Given the description of an element on the screen output the (x, y) to click on. 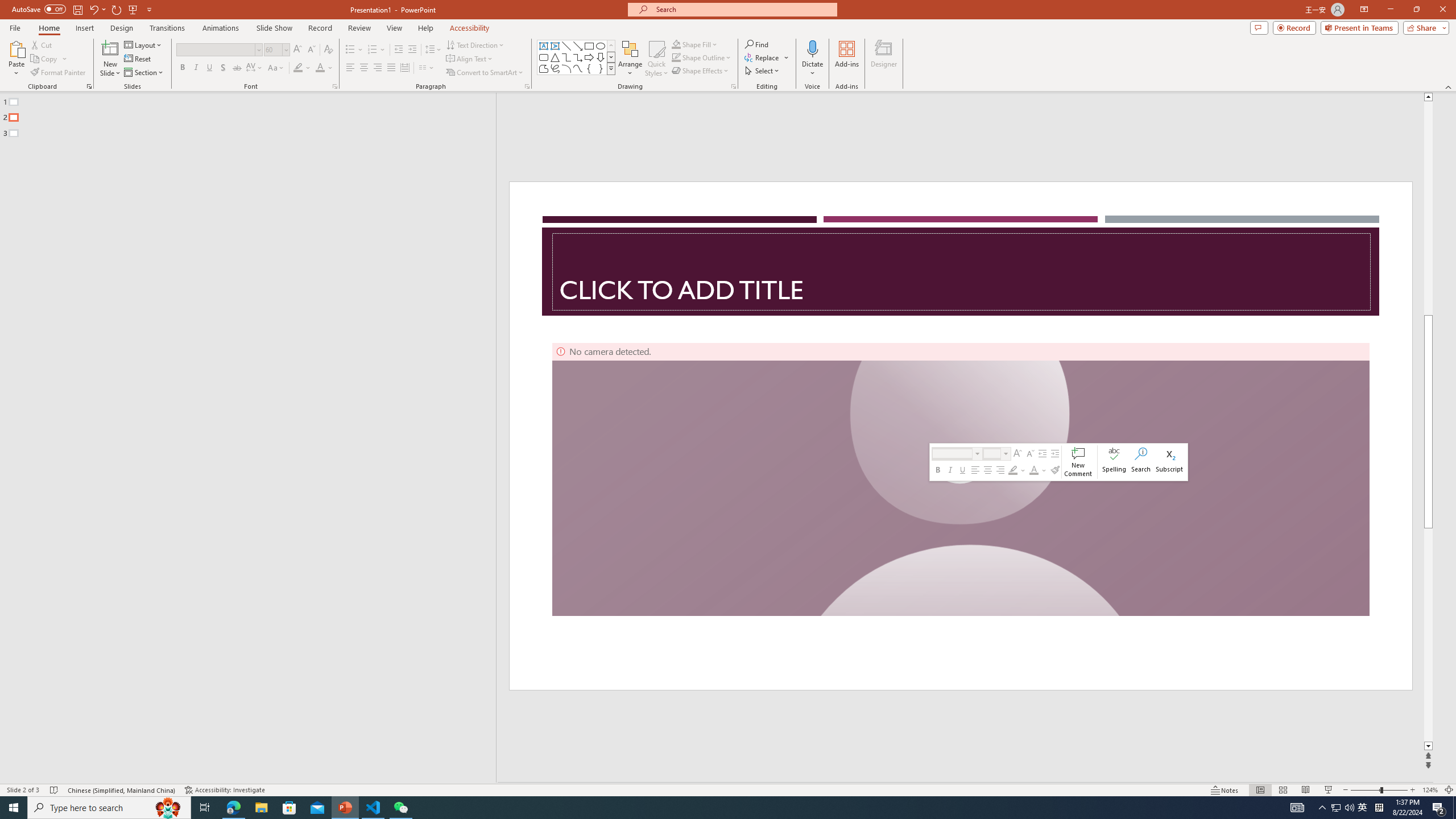
Replace... (767, 56)
Camera 3, No camera detected. (960, 478)
Align Text (470, 58)
Decrease Indent (398, 49)
Minimize (1390, 9)
Columns (426, 67)
Customize Quick Access Toolbar (149, 9)
Record (1294, 27)
Design (122, 28)
Class: MsoCommandBar (728, 789)
Shape Outline (701, 56)
Shapes (611, 68)
Convert to SmartArt (485, 72)
New Comment (1077, 462)
